Given the description of an element on the screen output the (x, y) to click on. 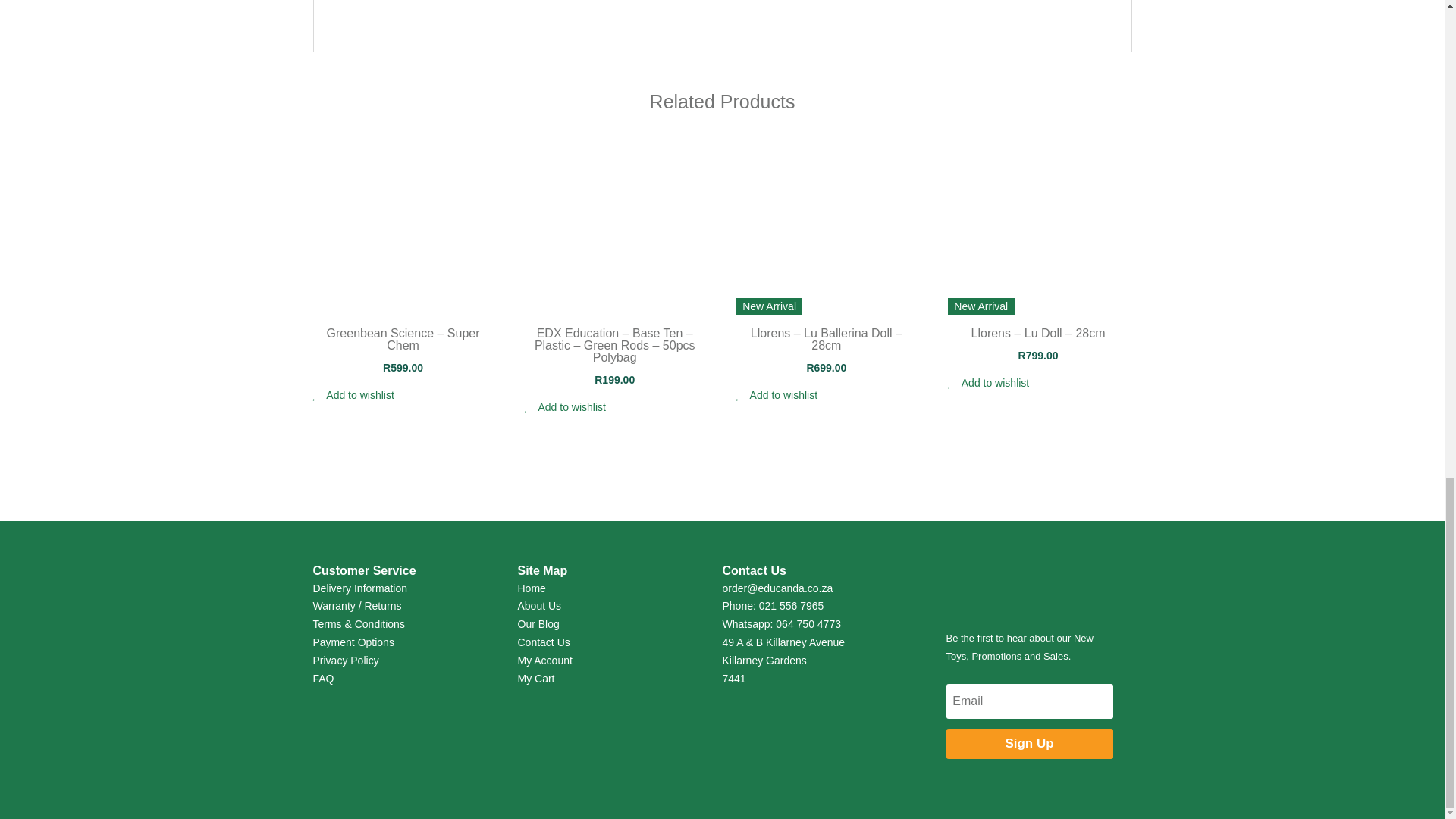
YouTube (548, 13)
Inspiration in Education by Educanda (1029, 585)
